Given the description of an element on the screen output the (x, y) to click on. 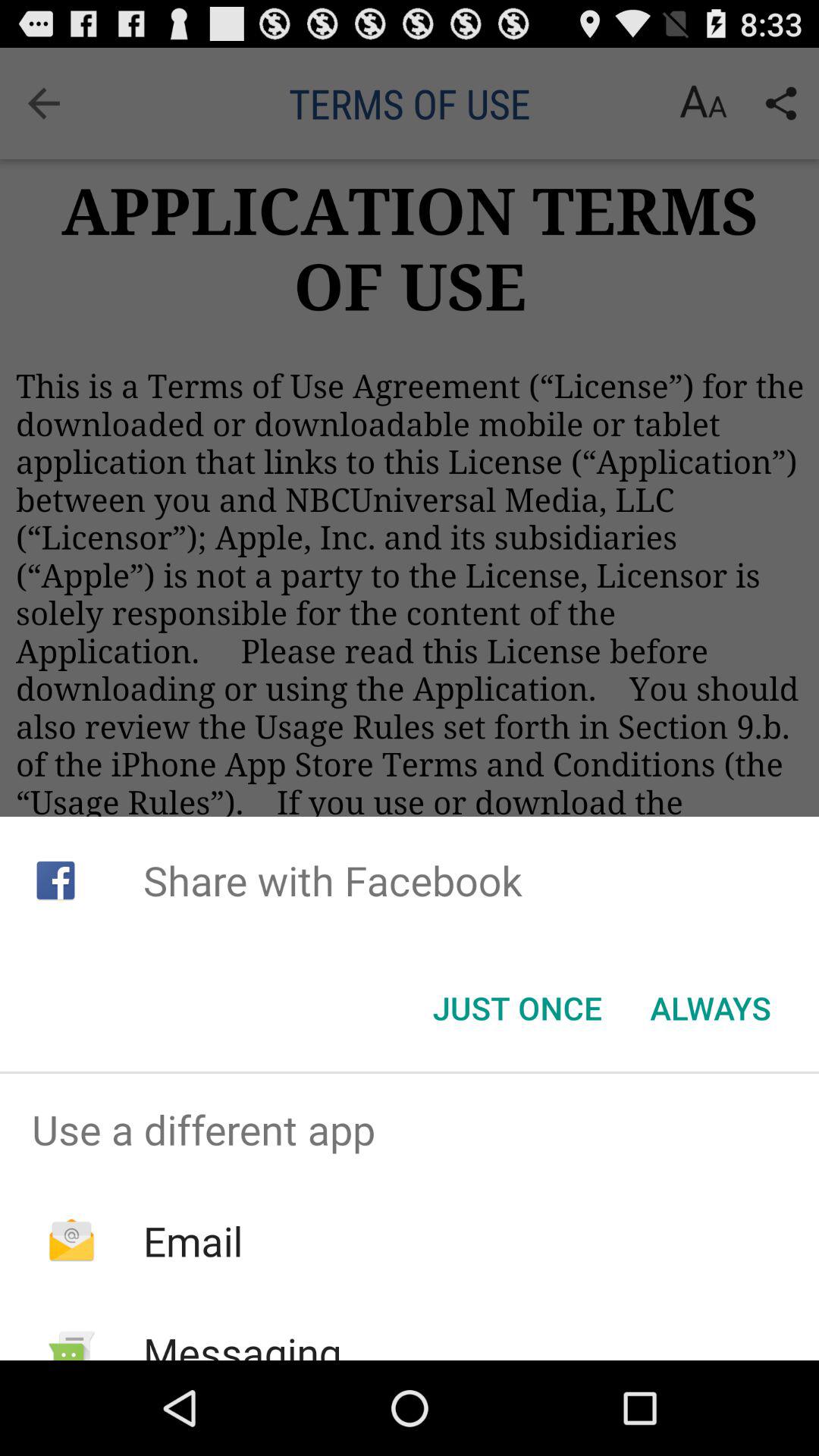
turn on icon to the right of the just once item (710, 1007)
